Given the description of an element on the screen output the (x, y) to click on. 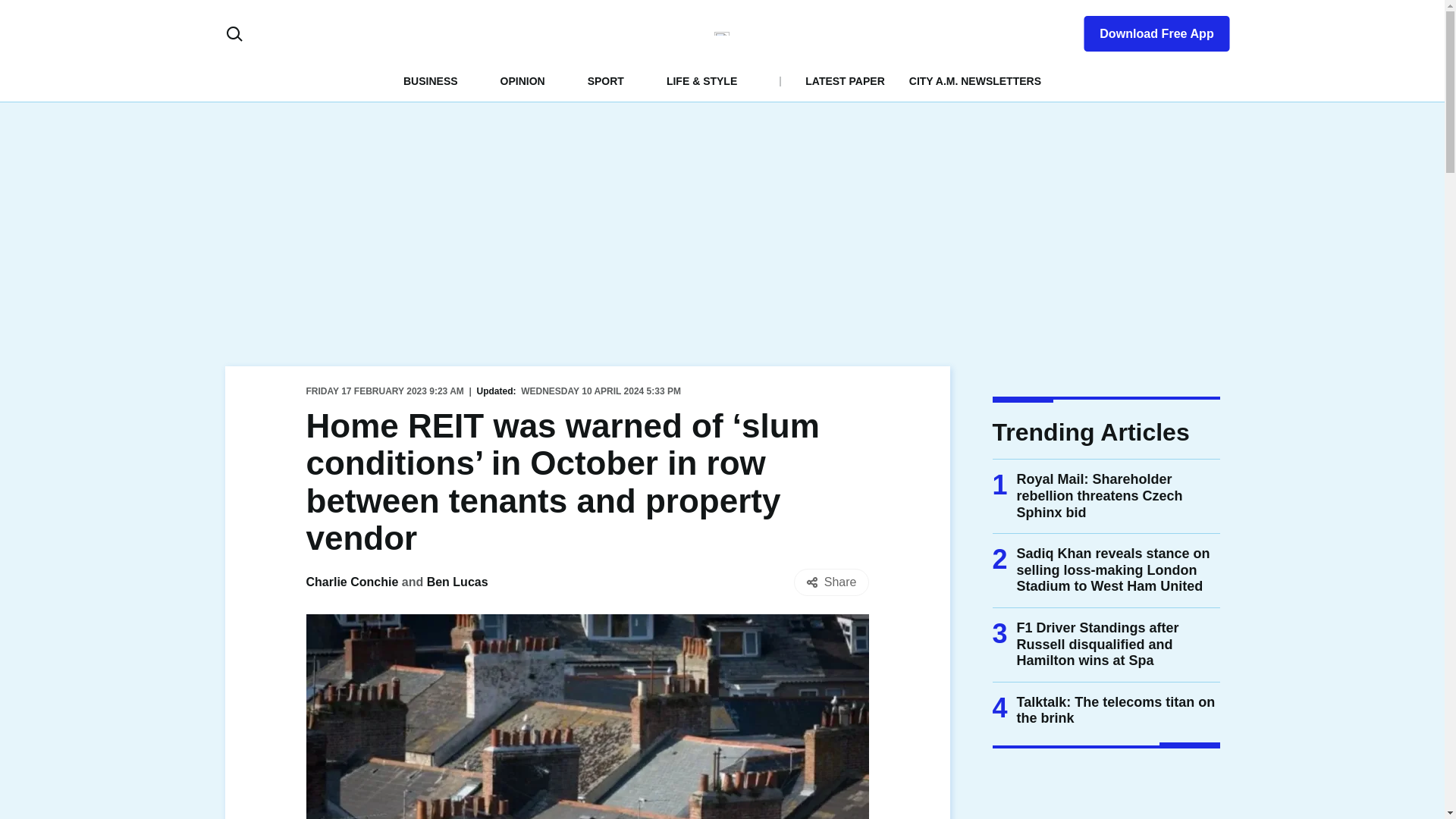
BUSINESS (430, 80)
CityAM (721, 33)
SPORT (606, 80)
Download Free App (1146, 30)
OPINION (522, 80)
